Given the description of an element on the screen output the (x, y) to click on. 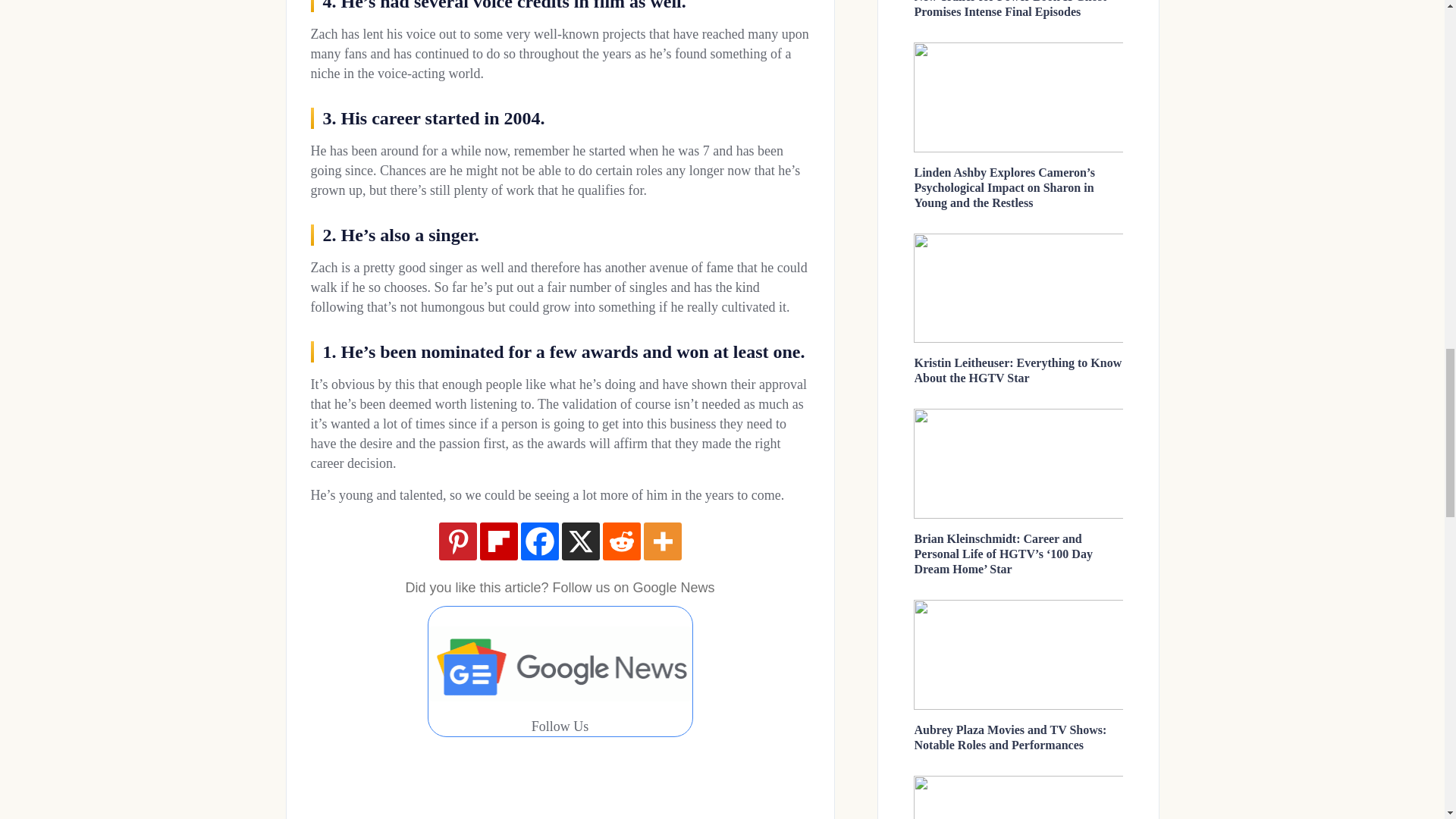
Reddit (621, 541)
More (662, 541)
Facebook (538, 541)
X (579, 541)
Flipboard (497, 541)
Pinterest (457, 541)
